Given the description of an element on the screen output the (x, y) to click on. 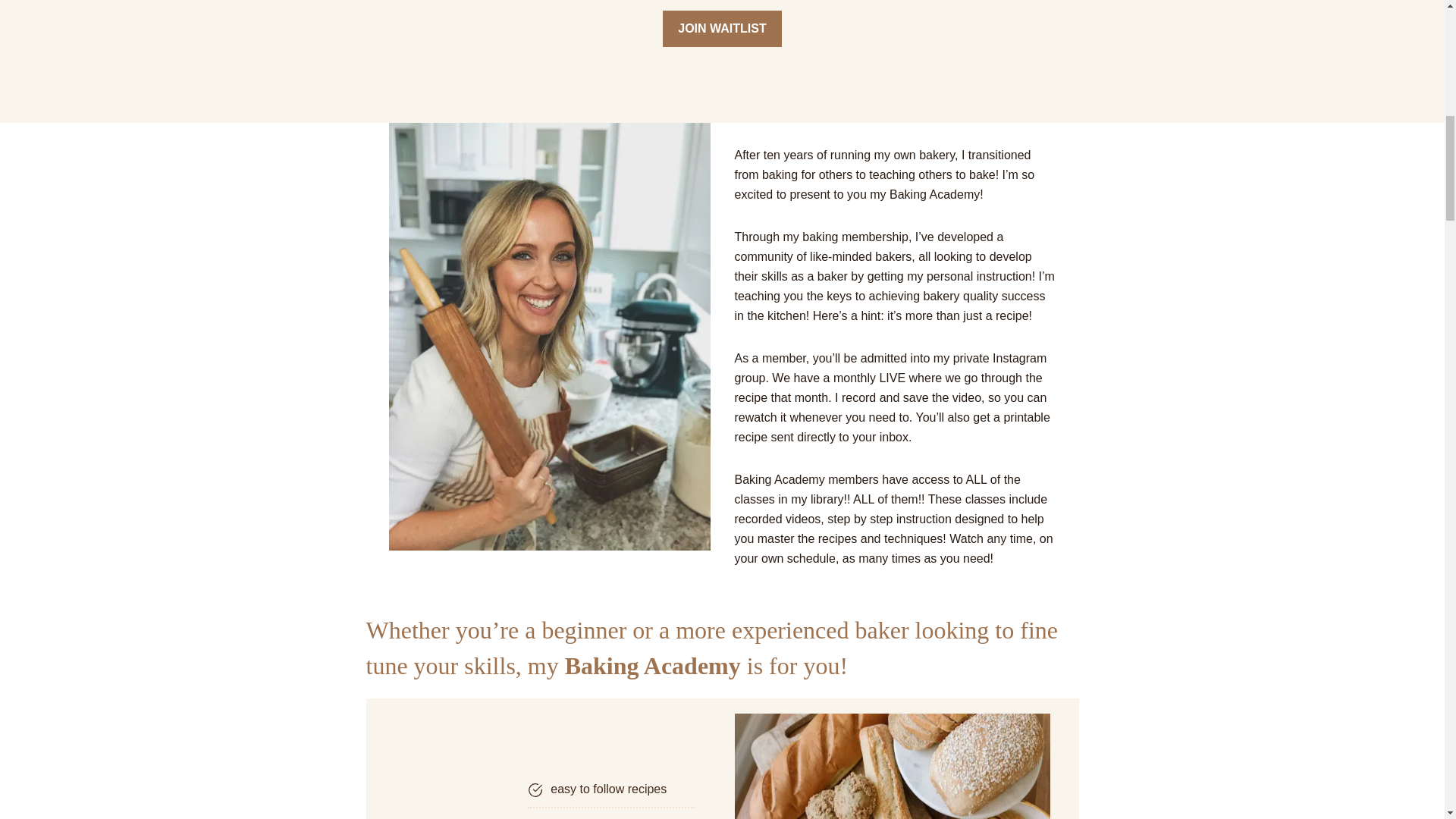
JOIN WAITLIST (721, 28)
